Given the description of an element on the screen output the (x, y) to click on. 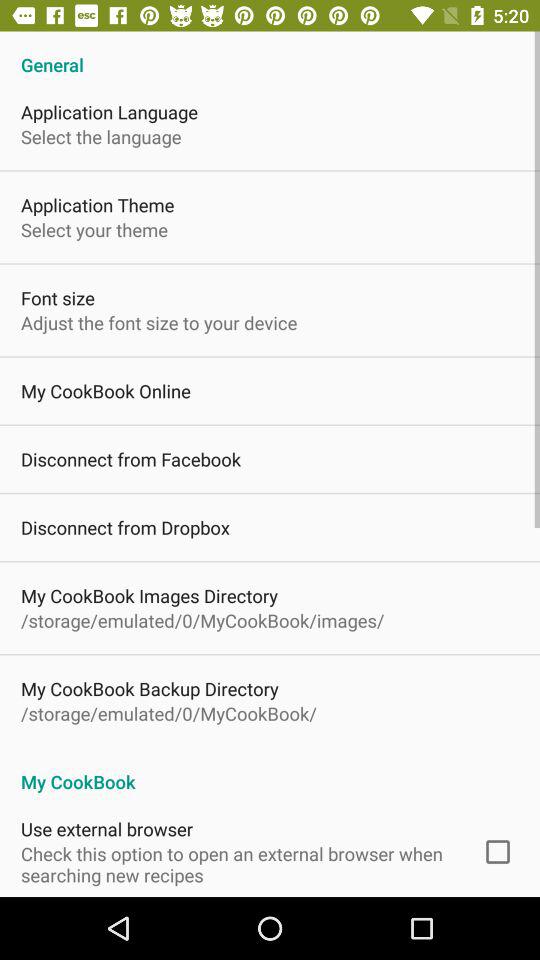
swipe until check this option icon (238, 864)
